Given the description of an element on the screen output the (x, y) to click on. 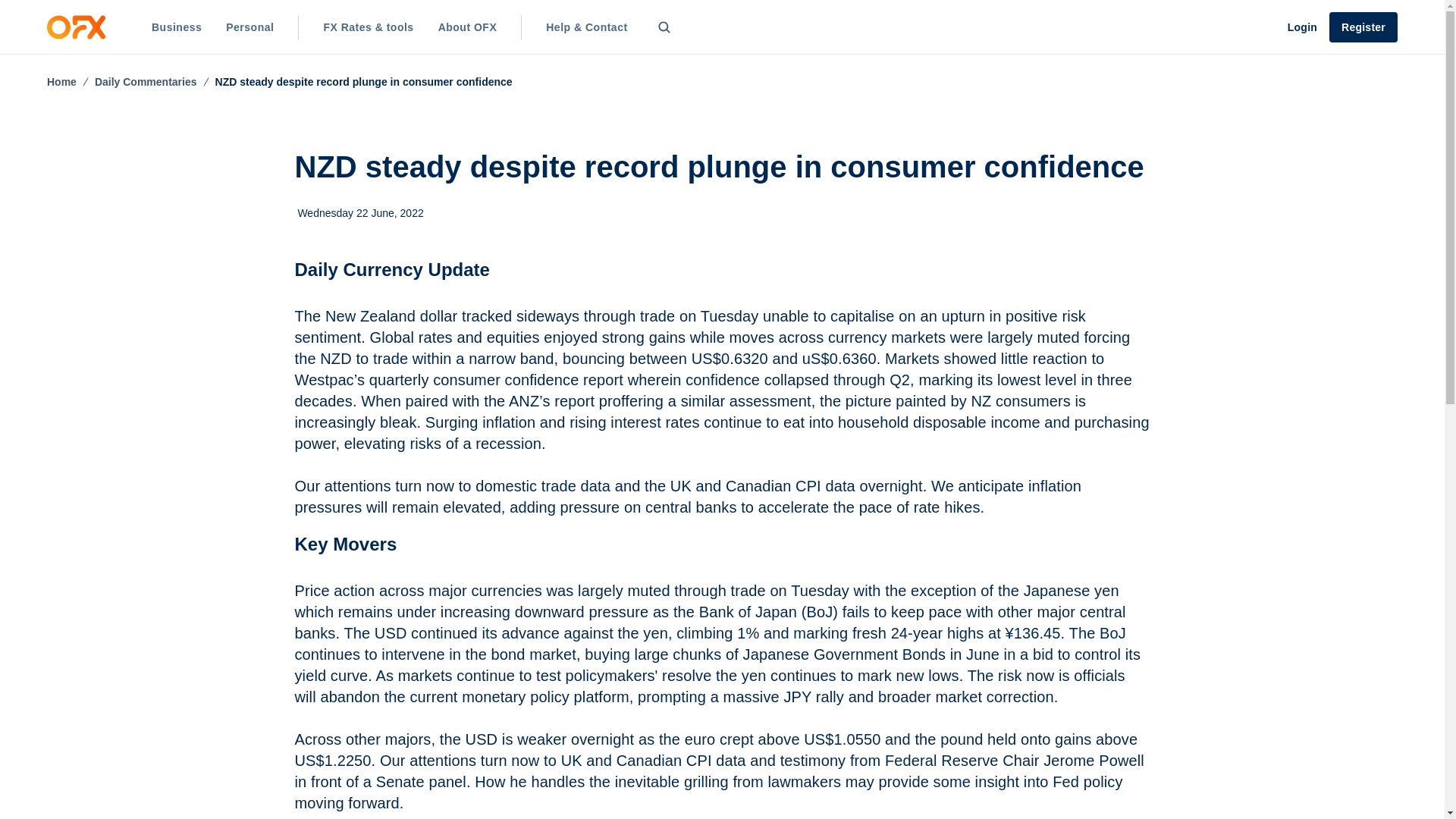
Personal (249, 27)
Business (176, 27)
